Given the description of an element on the screen output the (x, y) to click on. 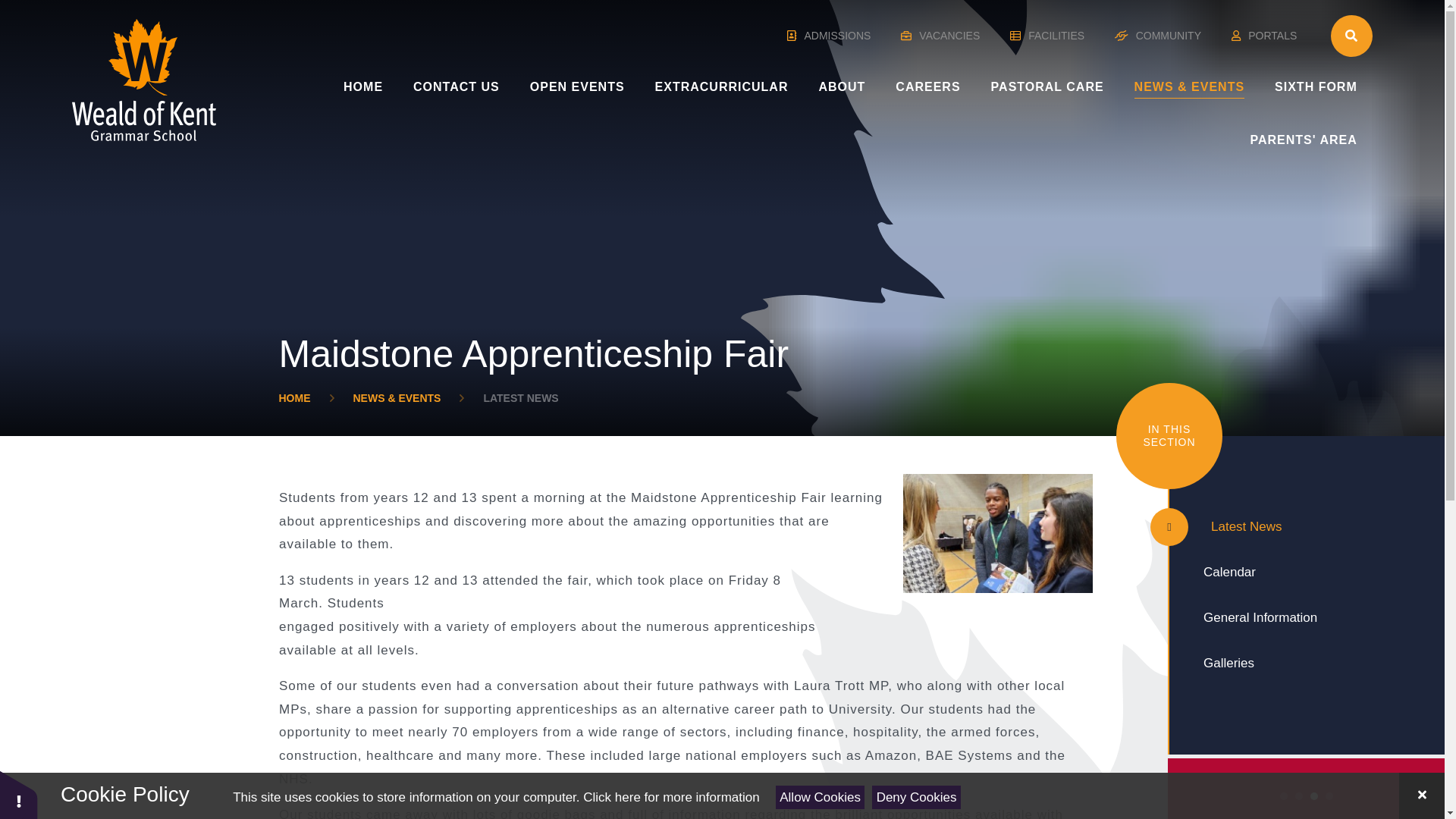
FACILITIES (1047, 35)
VACANCIES (940, 35)
See cookie policy (670, 797)
ABOUT (841, 86)
EXTRACURRICULAR (721, 86)
PORTALS (1264, 35)
Allow Cookies (820, 797)
Cookie Settings (18, 794)
HOME (363, 86)
ADMISSIONS (828, 35)
COMMUNITY (1158, 35)
OPEN EVENTS (577, 86)
Deny Cookies (915, 797)
CONTACT US (456, 86)
